Given the description of an element on the screen output the (x, y) to click on. 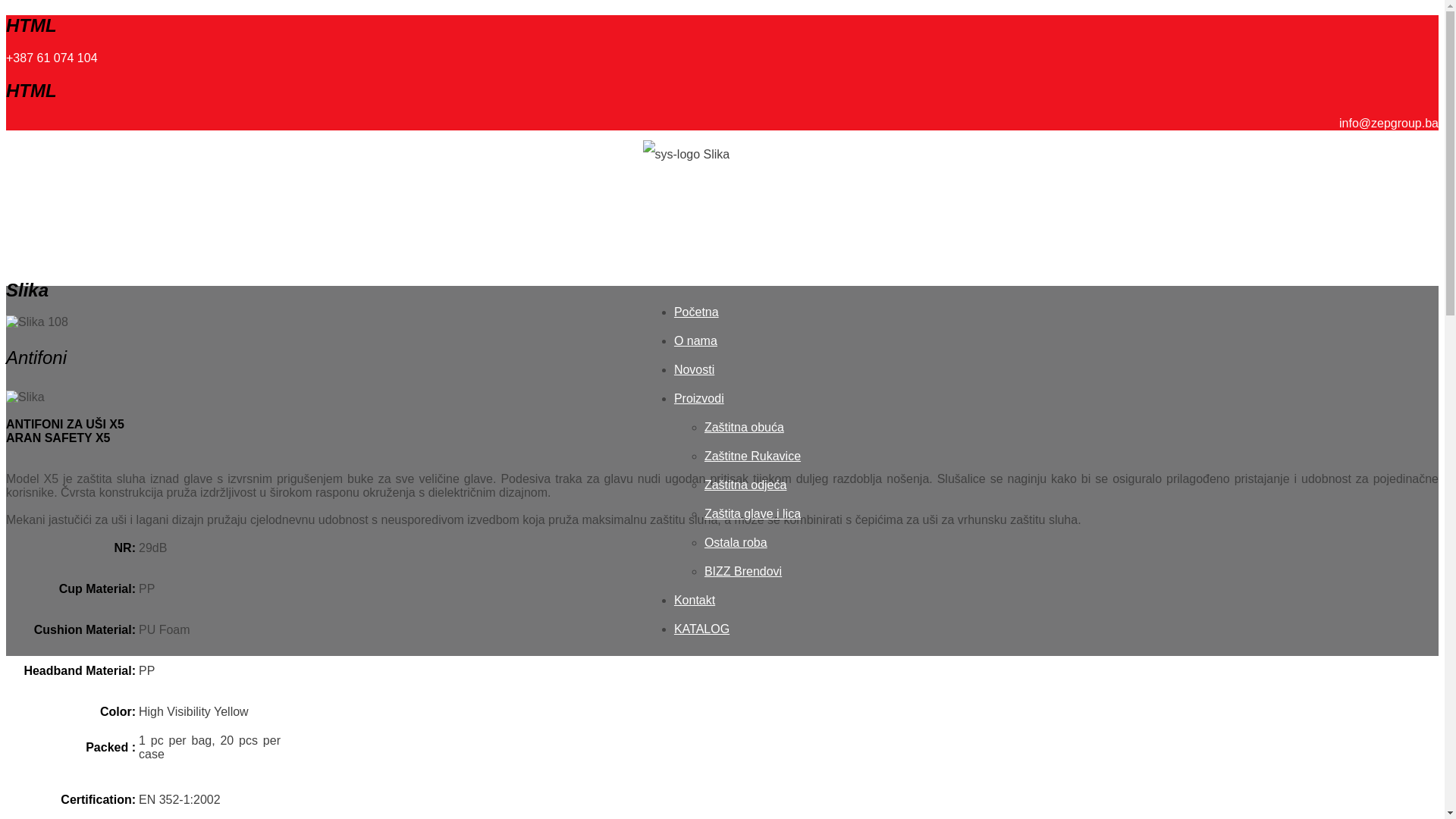
Ostala roba Element type: text (735, 542)
Kontakt Element type: text (694, 599)
Novosti Element type: text (694, 369)
O nama Element type: text (695, 340)
BIZZ Brendovi Element type: text (742, 570)
Proizvodi Element type: text (699, 398)
KATALOG Element type: text (701, 628)
